Given the description of an element on the screen output the (x, y) to click on. 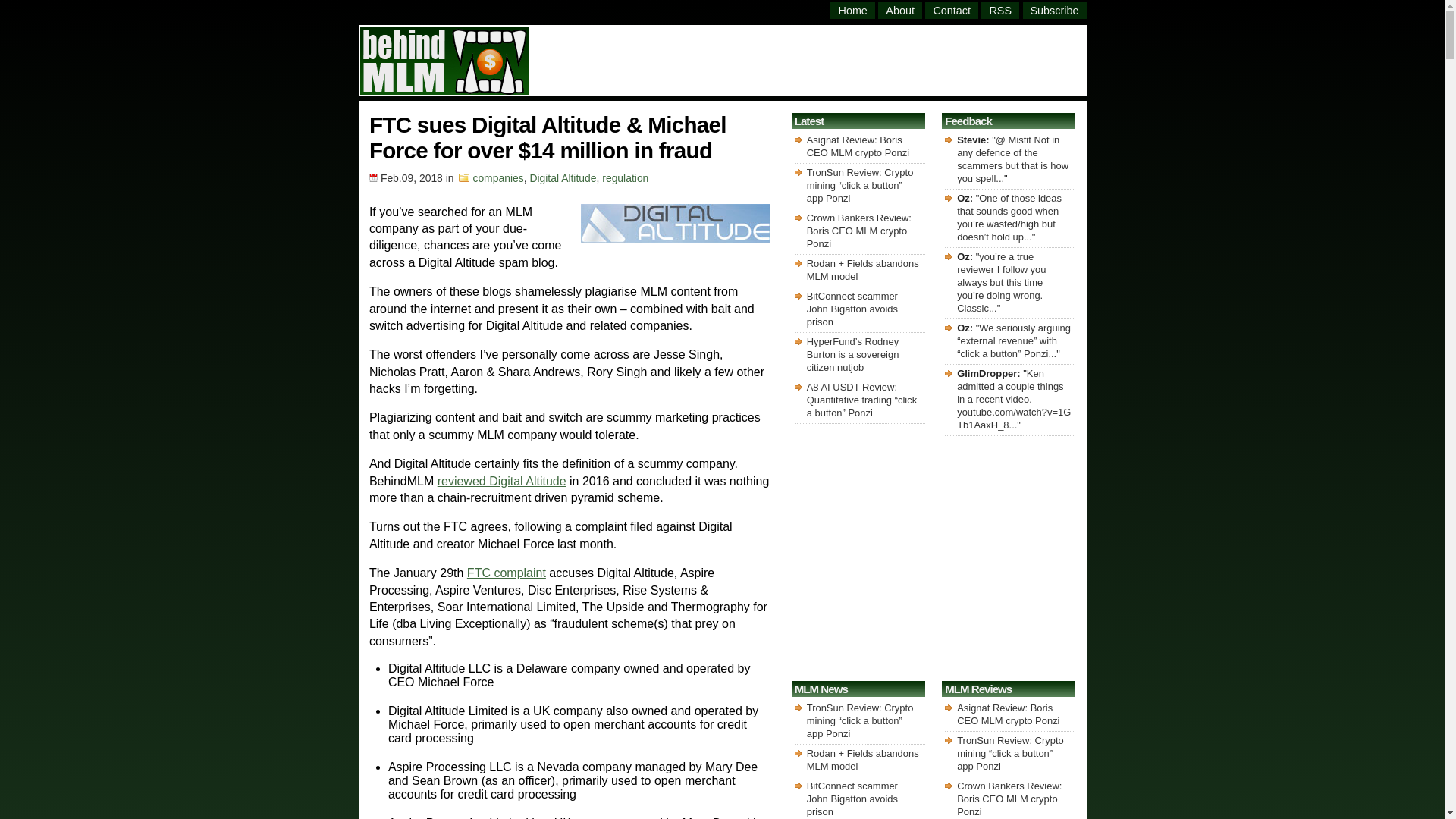
Digital Altitude (562, 177)
regulation (624, 177)
reviewed Digital Altitude (502, 481)
companies (496, 177)
FTC complaint (506, 572)
